Given the description of an element on the screen output the (x, y) to click on. 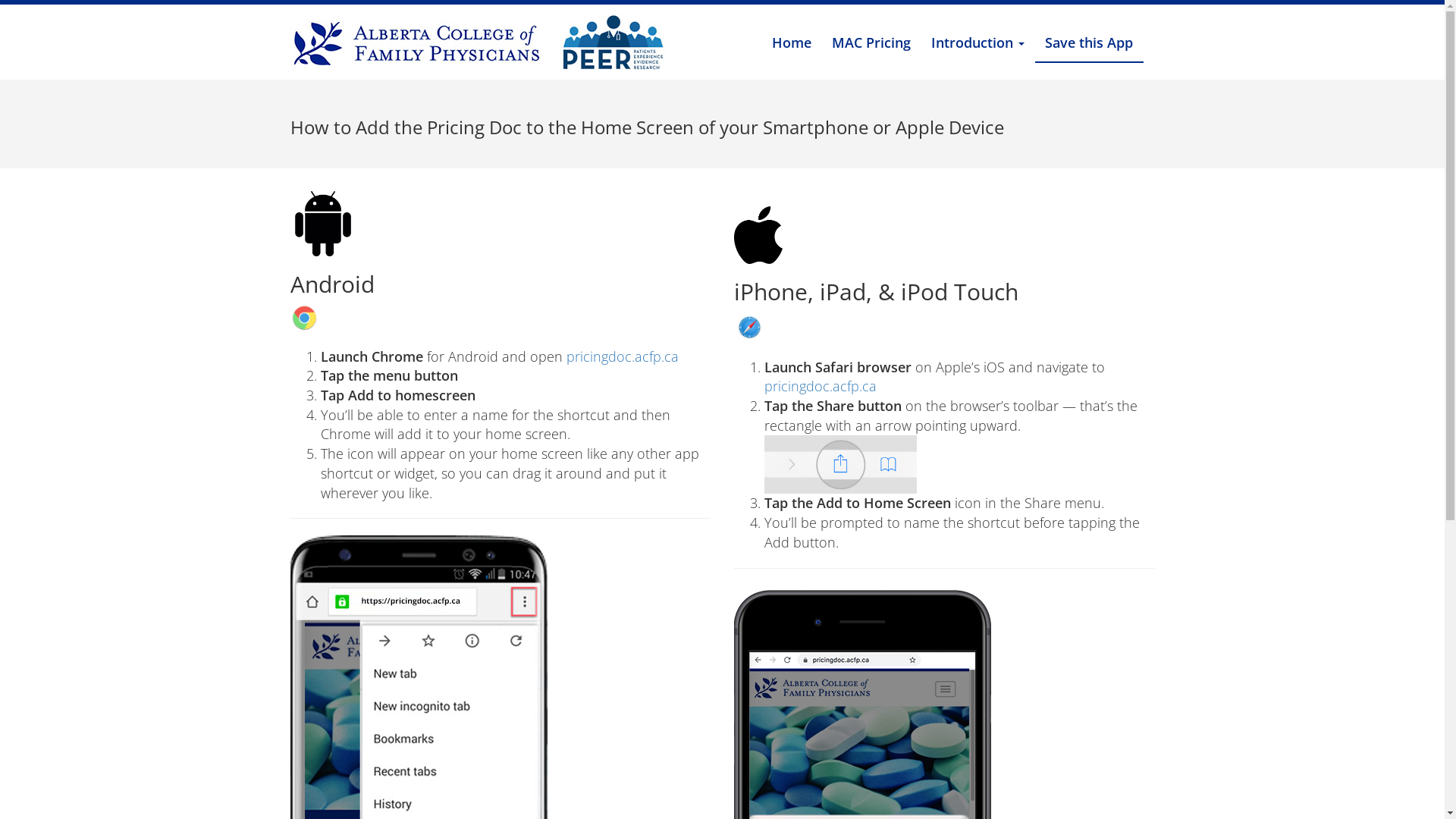
pricingdoc.acfp.ca Element type: text (820, 385)
Home Element type: text (791, 42)
MAC Pricing Element type: text (871, 42)
Introduction Element type: text (977, 42)
Save this App Element type: text (1088, 42)
pricingdoc.acfp.ca Element type: text (621, 356)
